Given the description of an element on the screen output the (x, y) to click on. 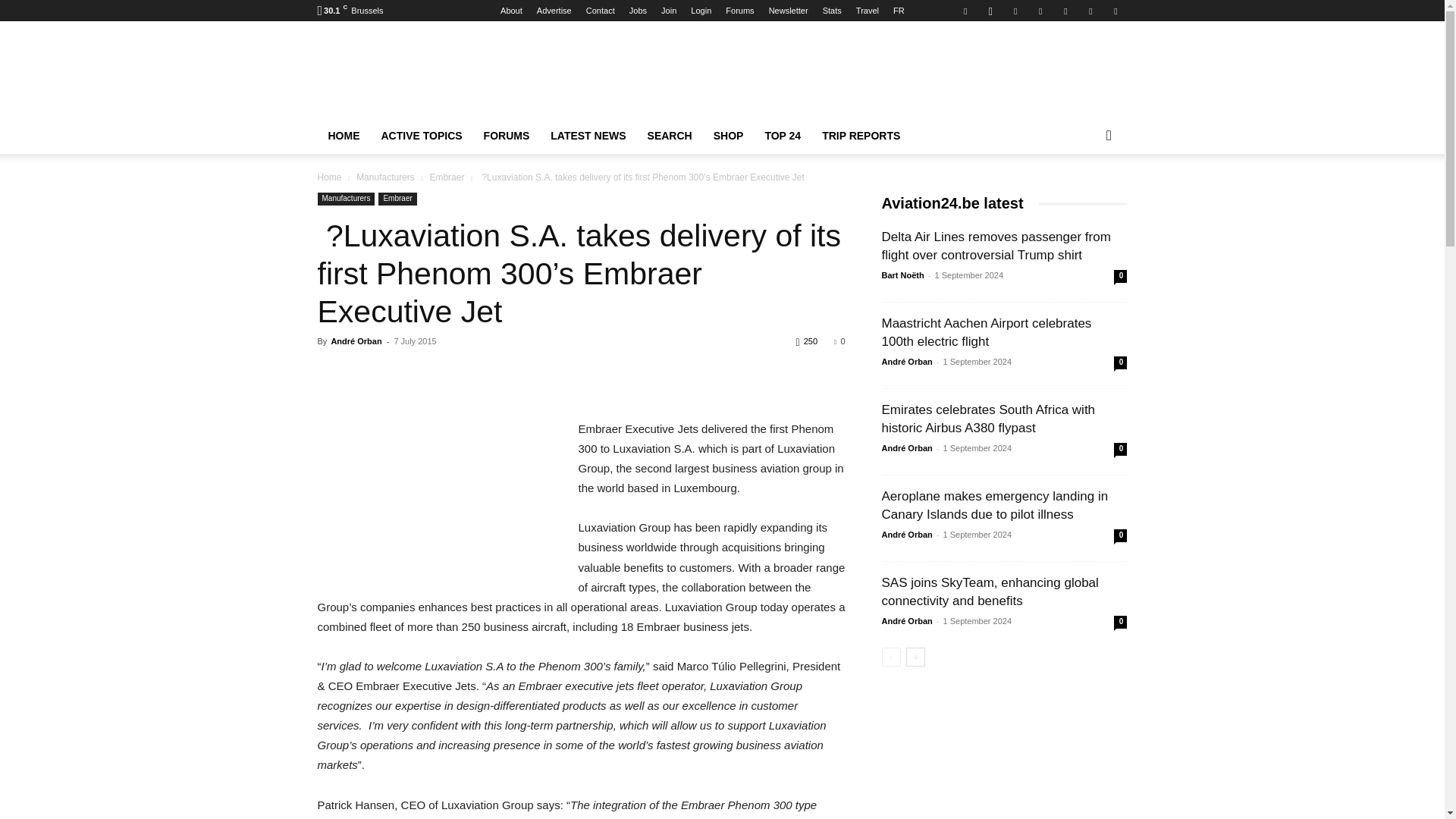
Advertise (554, 10)
Join (669, 10)
Contact (600, 10)
Login (700, 10)
Forums (739, 10)
Newsletter (788, 10)
Travel (867, 10)
Jobs (637, 10)
FR (898, 10)
About (511, 10)
